Given the description of an element on the screen output the (x, y) to click on. 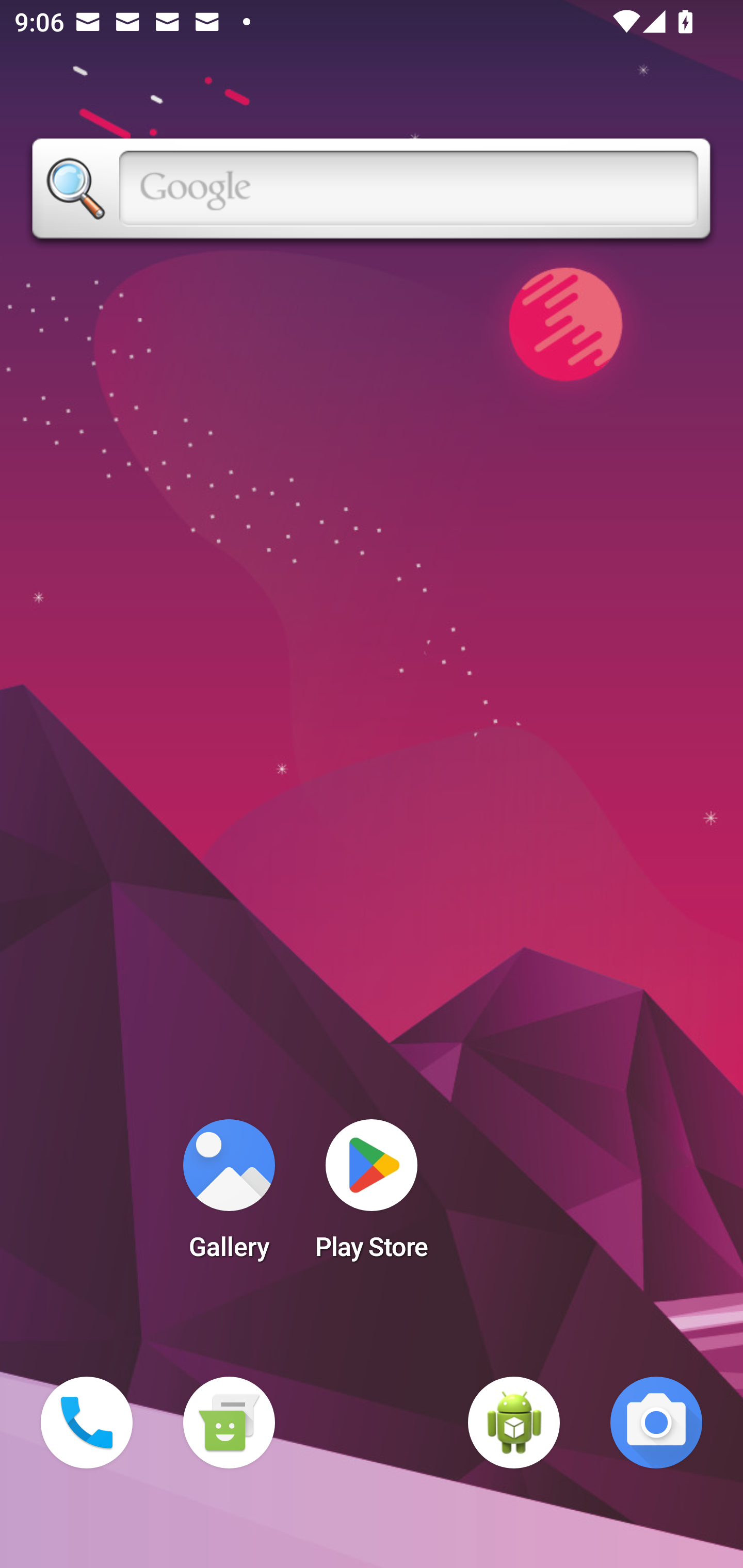
Gallery (228, 1195)
Play Store (371, 1195)
Phone (86, 1422)
Messaging (228, 1422)
WebView Browser Tester (513, 1422)
Camera (656, 1422)
